Given the description of an element on the screen output the (x, y) to click on. 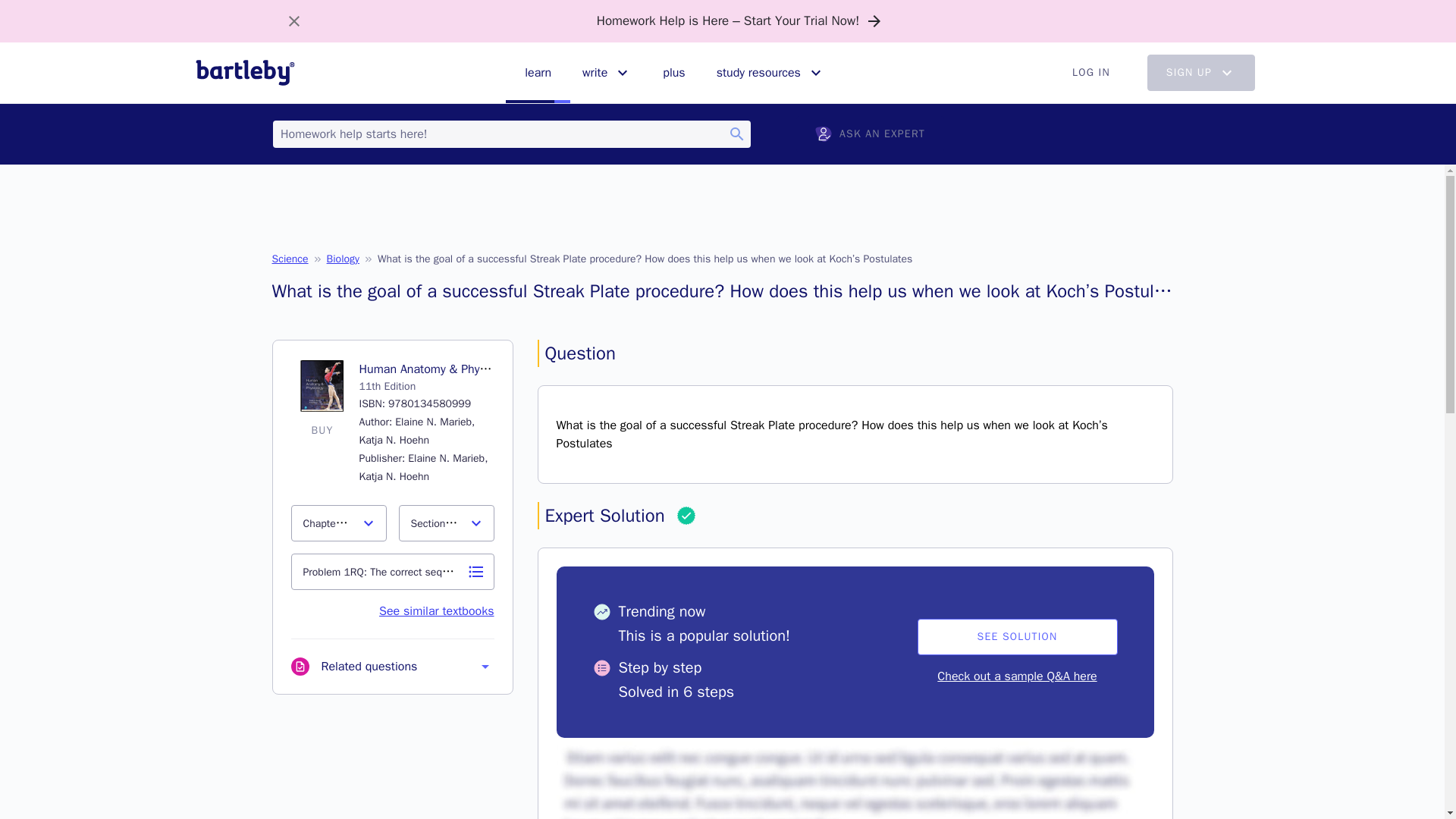
write (606, 72)
study resources (770, 72)
Science (288, 258)
ASK AN EXPERT (869, 134)
learn (537, 72)
See similar textbooks (435, 611)
LOG IN (1090, 72)
plus (673, 72)
Biology (342, 258)
BUY (322, 430)
SIGN UP (1201, 72)
Homework help starts here! (512, 134)
